Given the description of an element on the screen output the (x, y) to click on. 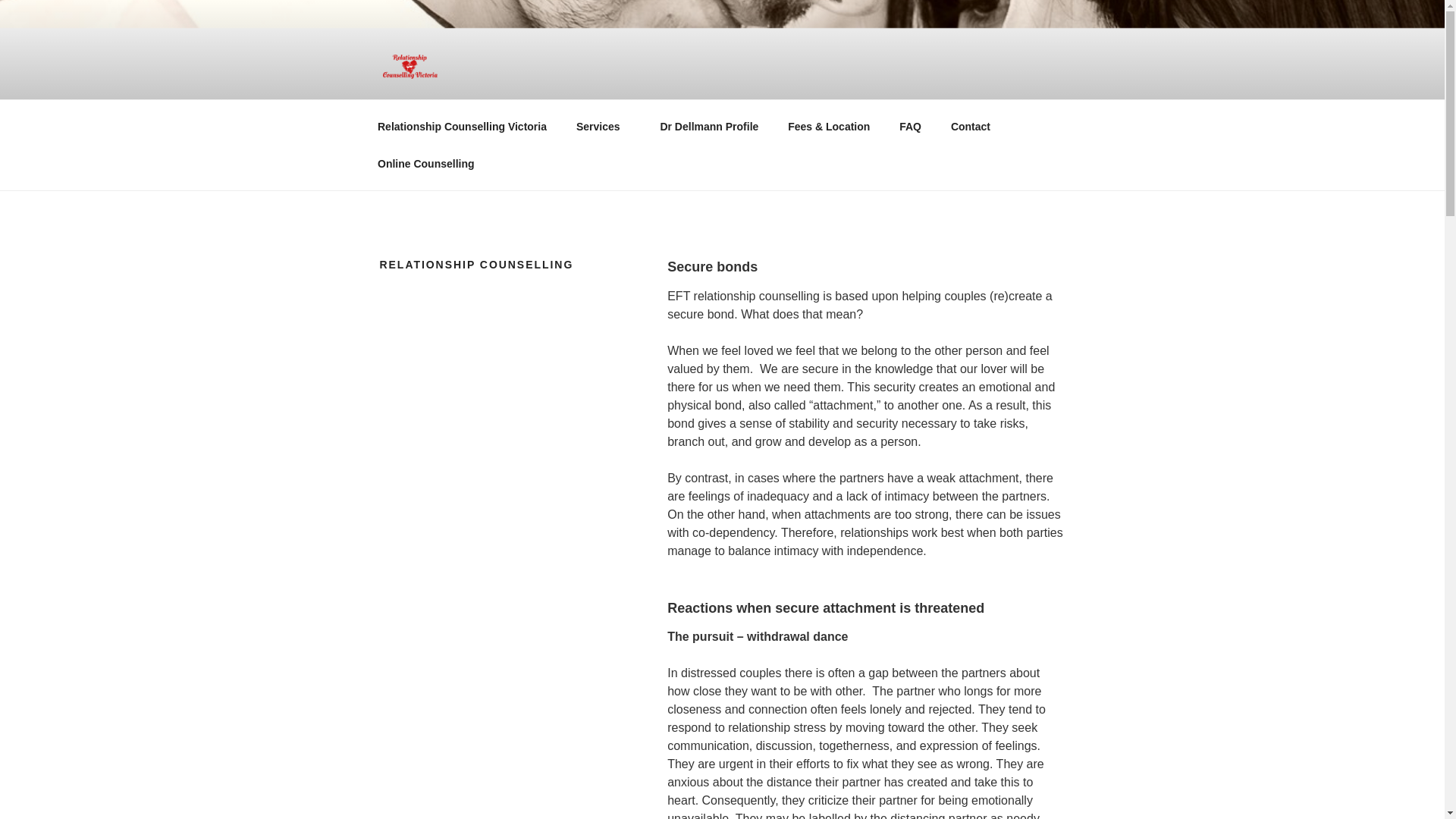
FAQ (910, 125)
Contact (970, 125)
Relationship Counselling Victoria (461, 125)
Dr Dellmann Profile (708, 125)
Services (602, 125)
RELATIONSHIP COUNSELLING VICTORIA (686, 119)
Online Counselling (425, 163)
